Given the description of an element on the screen output the (x, y) to click on. 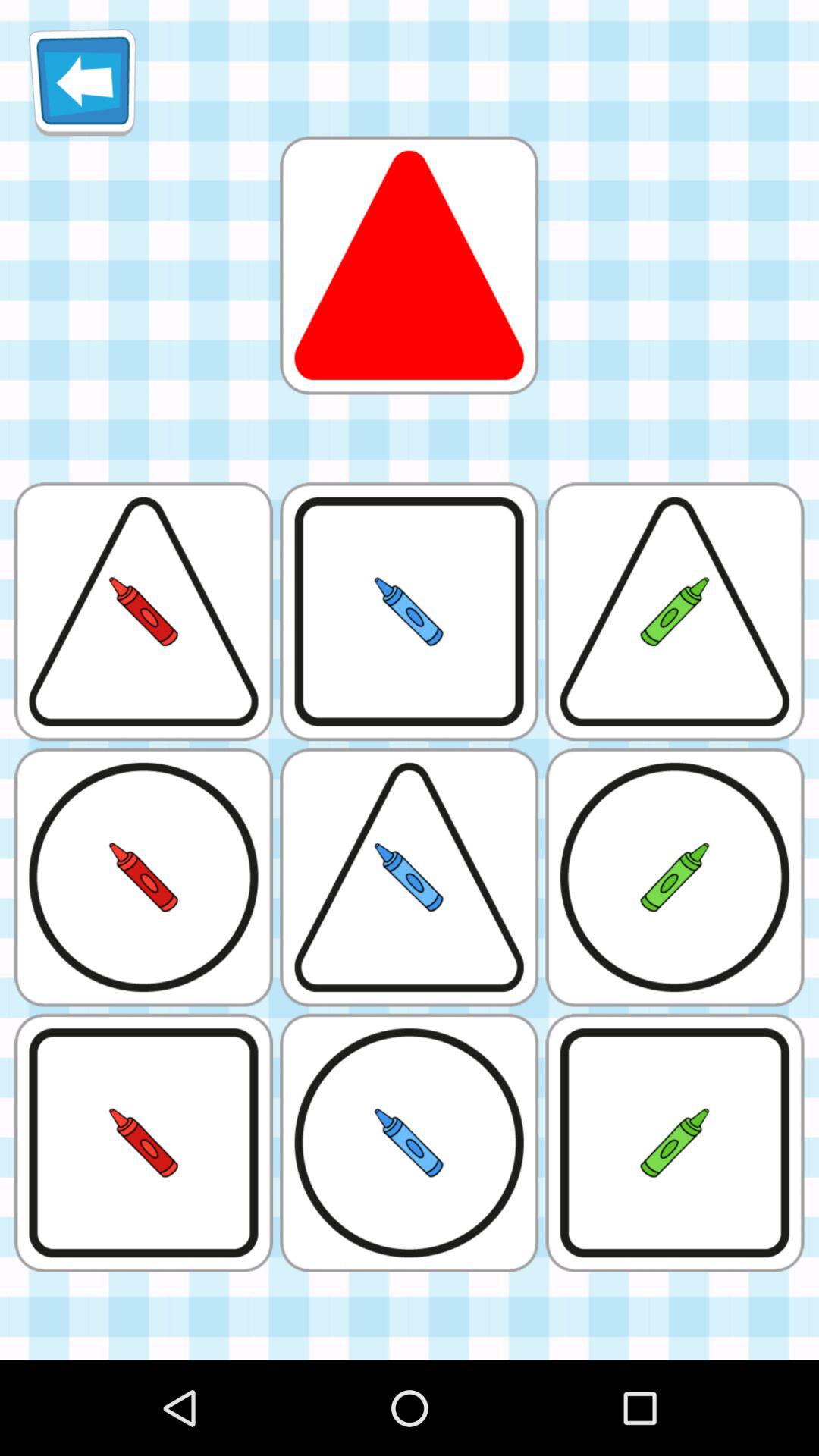
select the icon which is at the top left corner (81, 82)
select the box which has blue crayon inside a circle (409, 1142)
select the box which has a green crayon inside a circle (674, 877)
select the first red colour which is at the top of the page (409, 264)
select the red colored triangle (409, 264)
go to first option in third row (143, 877)
select the image in the first row (409, 264)
select the first image in the second row (143, 611)
